Given the description of an element on the screen output the (x, y) to click on. 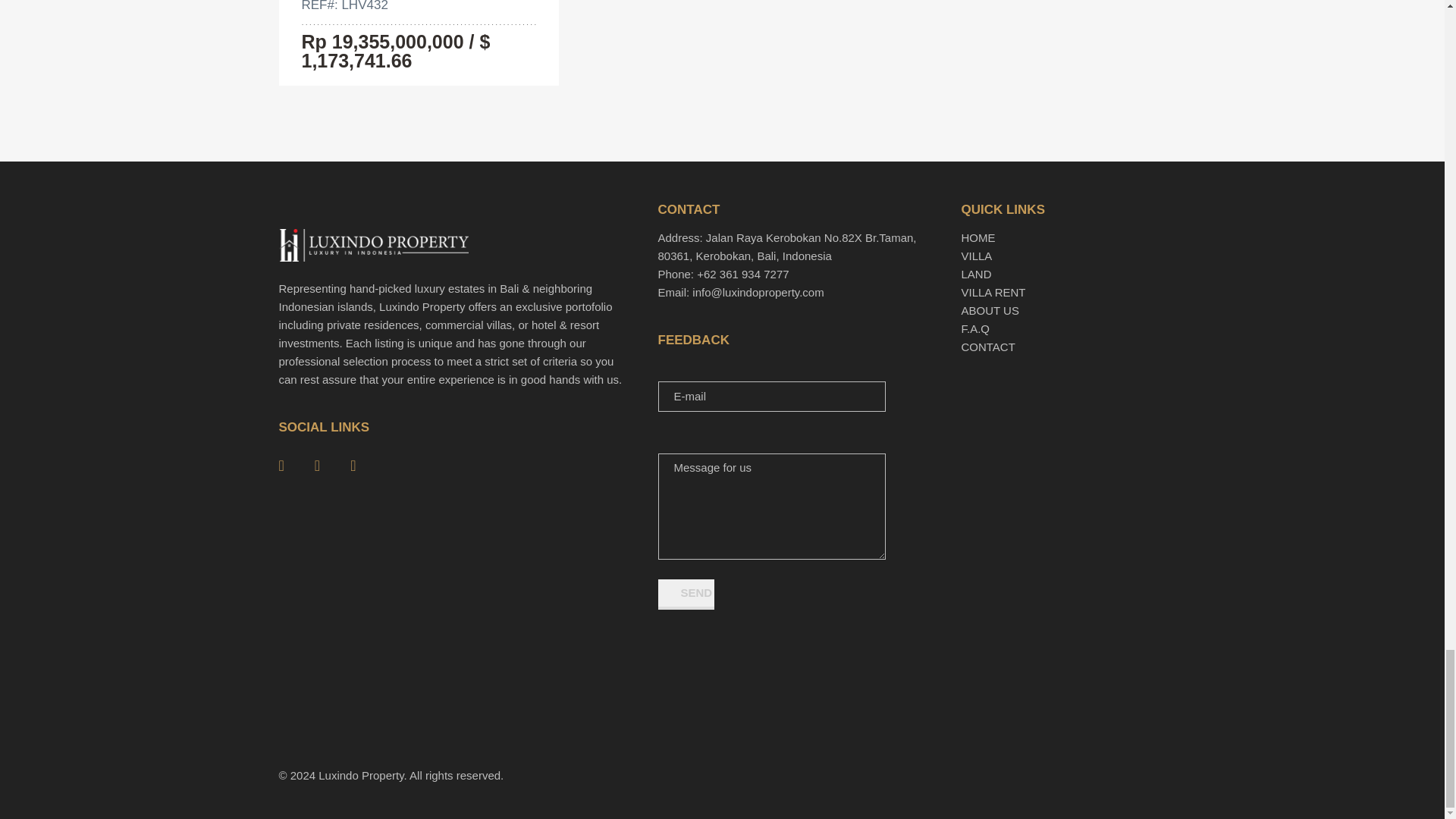
Send (686, 594)
